Given the description of an element on the screen output the (x, y) to click on. 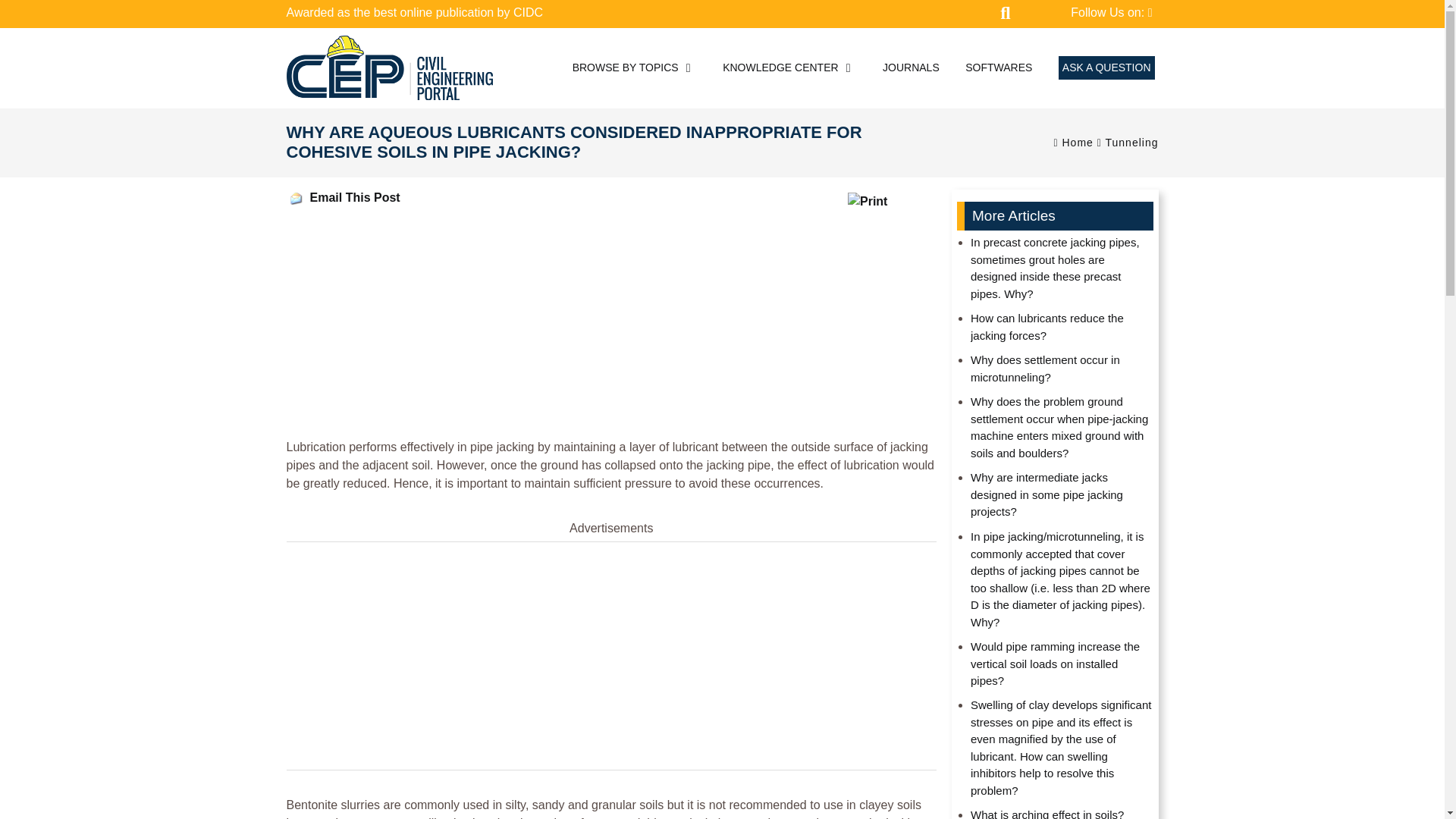
View all posts in Tunneling (1131, 142)
KNOWLEDGE CENTER (789, 67)
Email This Post (295, 198)
ASK A QUESTION (1106, 67)
BROWSE BY TOPICS (634, 67)
SOFTWARES (998, 67)
Follow Us on: (1110, 13)
Email This Post (353, 198)
JOURNALS (910, 67)
